Given the description of an element on the screen output the (x, y) to click on. 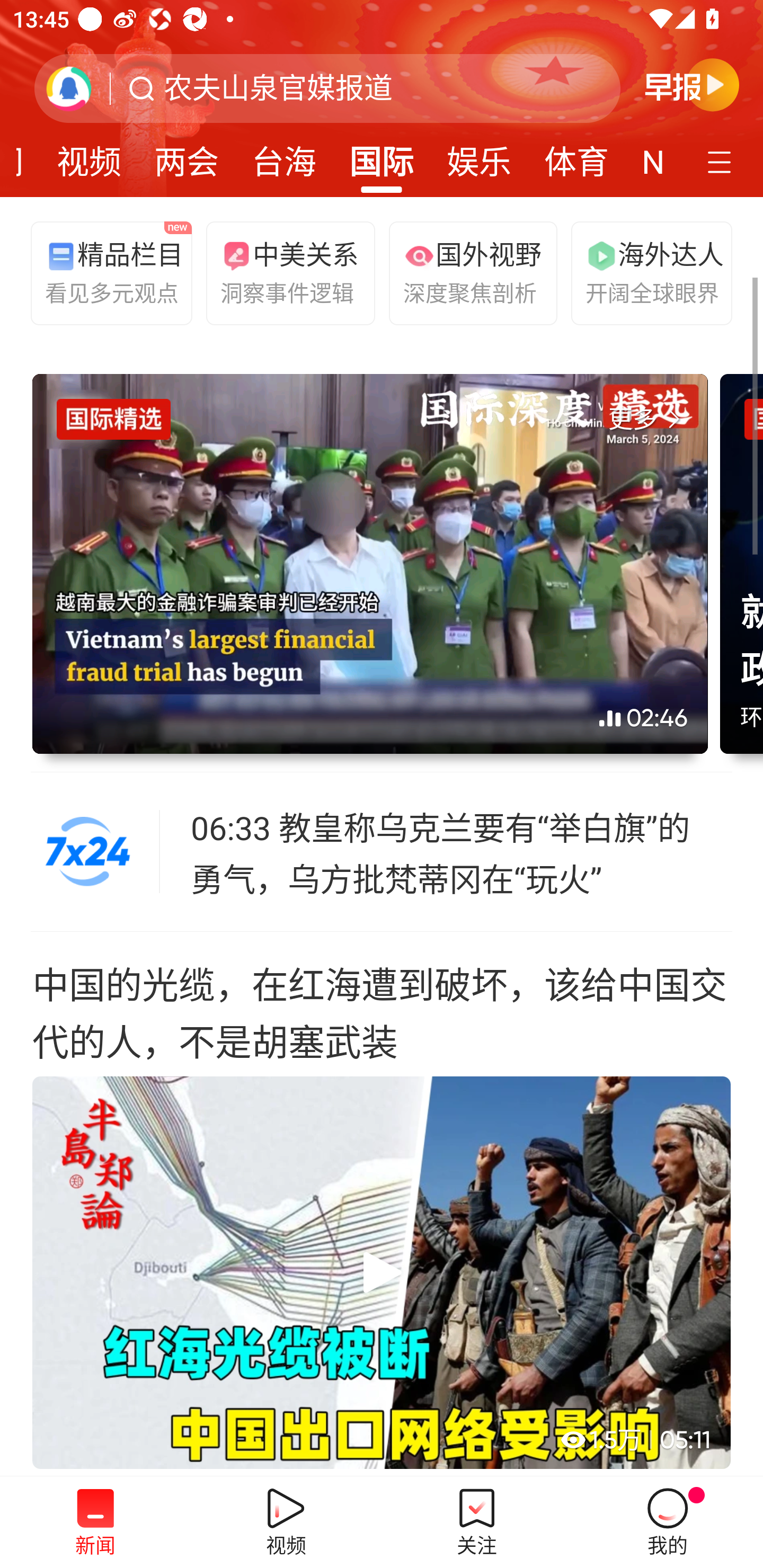
早晚报 (691, 84)
刷新 (68, 88)
农夫山泉官媒报道 (278, 88)
视频 (89, 155)
两会 (186, 155)
台海 (283, 155)
国际 (381, 155)
娱乐 (478, 155)
体育 (575, 155)
 定制频道 (721, 160)
精品栏目 看见多元观点 (106, 272)
中美关系 洞察事件逻辑 (282, 272)
国外视野 深度聚焦剖析 (465, 272)
海外达人 开阔全球眼界 (647, 272)
更多  (648, 419)
06:33 教皇称乌克兰要有“举白旗”的勇气，乌方批梵蒂冈在“玩火” (461, 852)
中国的光缆，在红海遭到破坏，该给中国交代的人，不是胡塞武装  1.5万 05:11 (381, 1204)
